Given the description of an element on the screen output the (x, y) to click on. 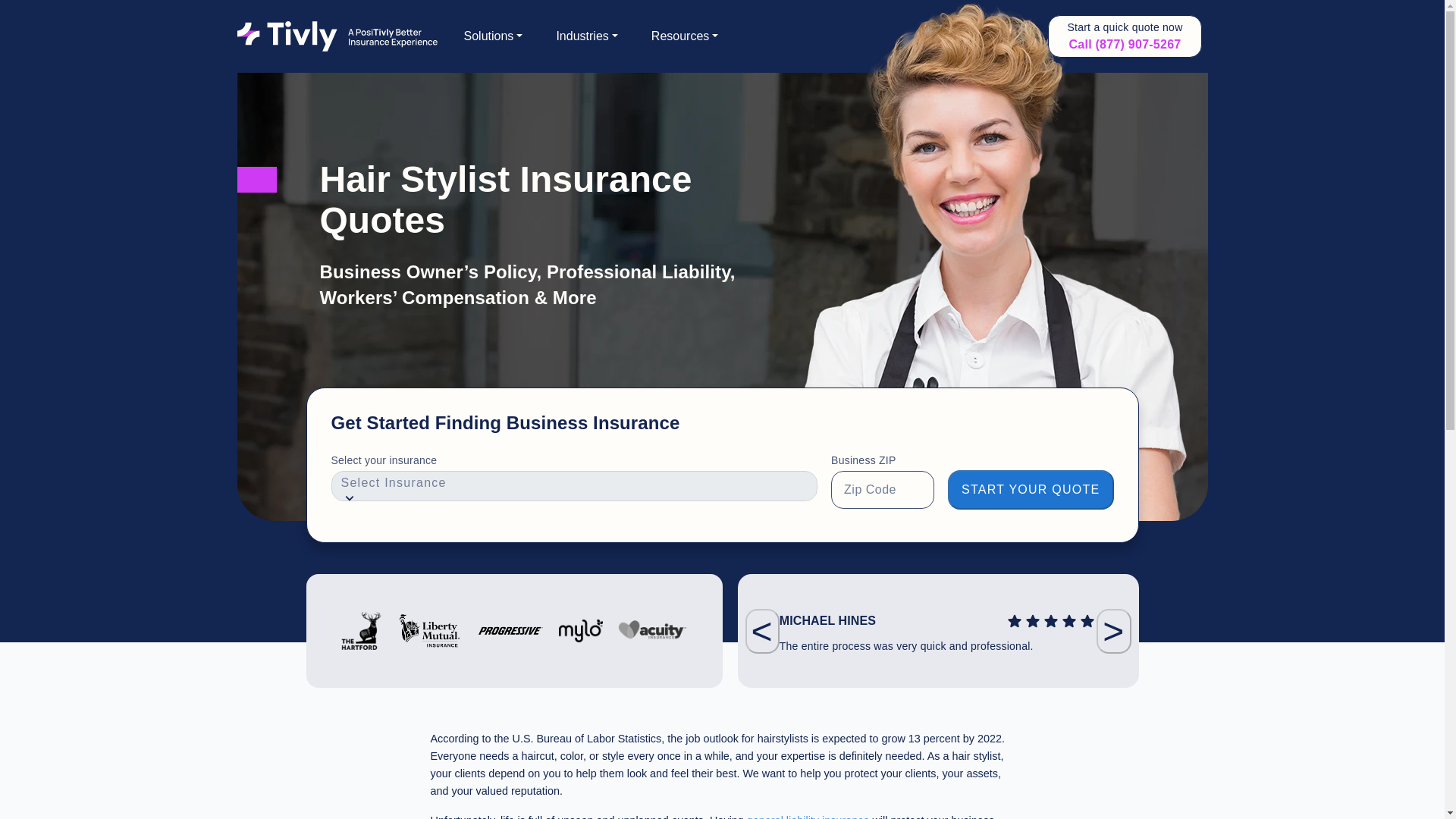
Industries (586, 35)
Solutions (493, 35)
Resources (684, 35)
